Given the description of an element on the screen output the (x, y) to click on. 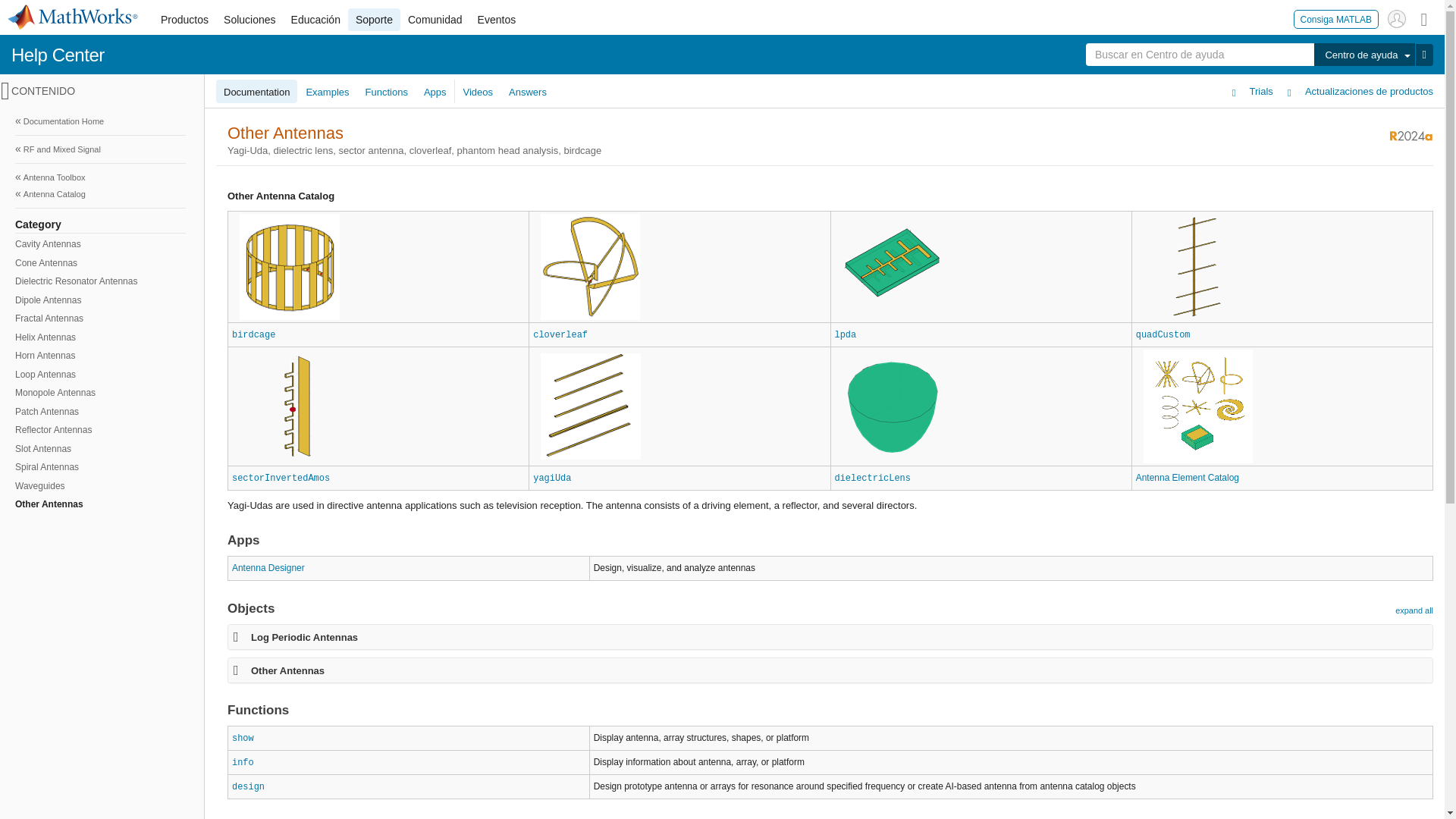
Comunidad (435, 19)
Soporte (373, 19)
Consiga MATLAB (1336, 18)
Matrix Menu (1423, 18)
Eventos (497, 19)
Soluciones (249, 19)
Productos (183, 19)
